Given the description of an element on the screen output the (x, y) to click on. 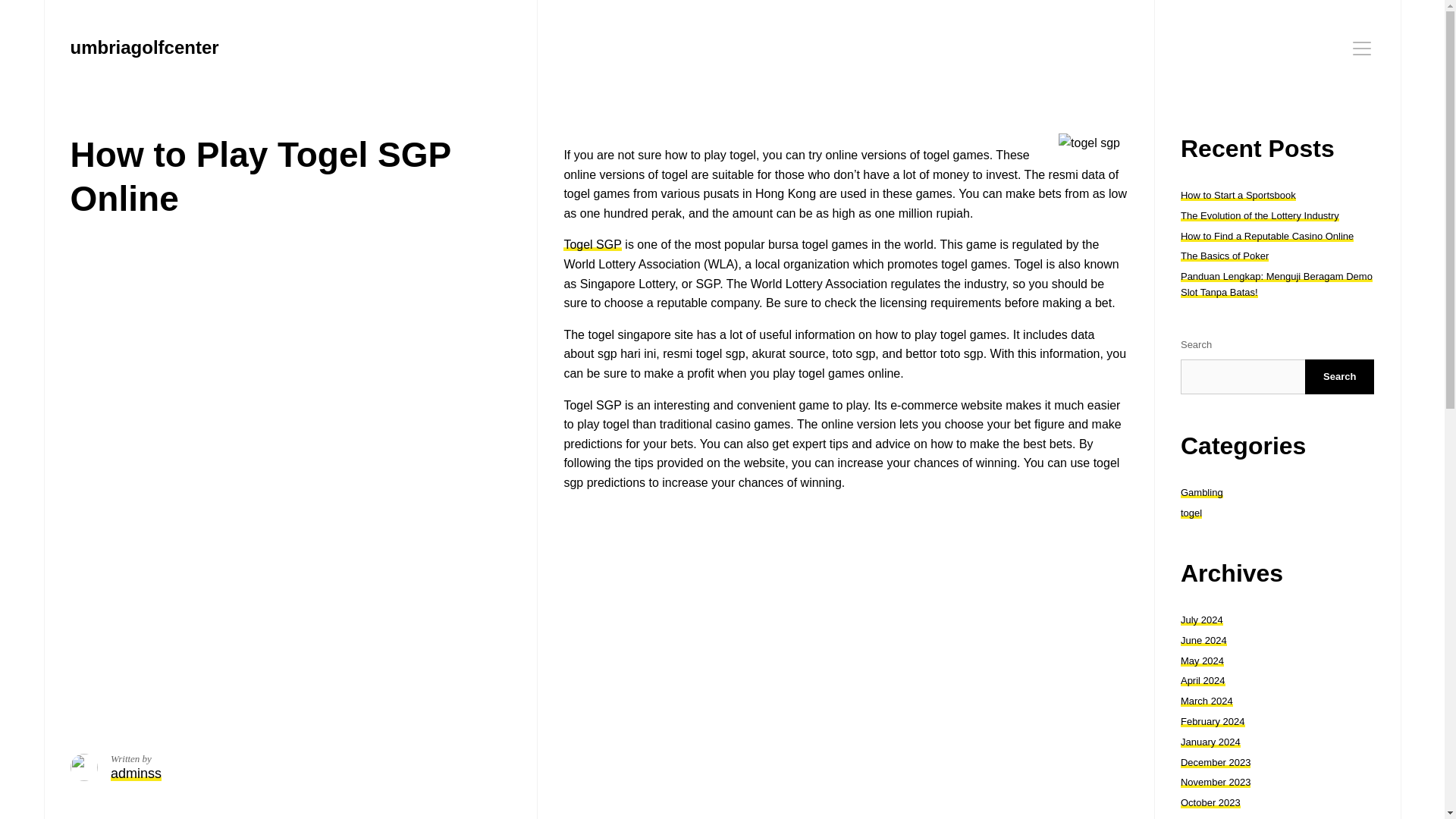
togel (1191, 512)
umbriagolfcenter (144, 47)
December 2023 (1215, 762)
The Basics of Poker (1224, 255)
Gambling (1201, 491)
adminss (135, 773)
How to Start a Sportsbook (1237, 194)
September 2023 (1216, 818)
January 2024 (1210, 741)
May 2024 (1202, 660)
November 2023 (1215, 781)
Togel SGP (592, 244)
June 2024 (1203, 640)
April 2024 (1202, 680)
Menu (1361, 48)
